Given the description of an element on the screen output the (x, y) to click on. 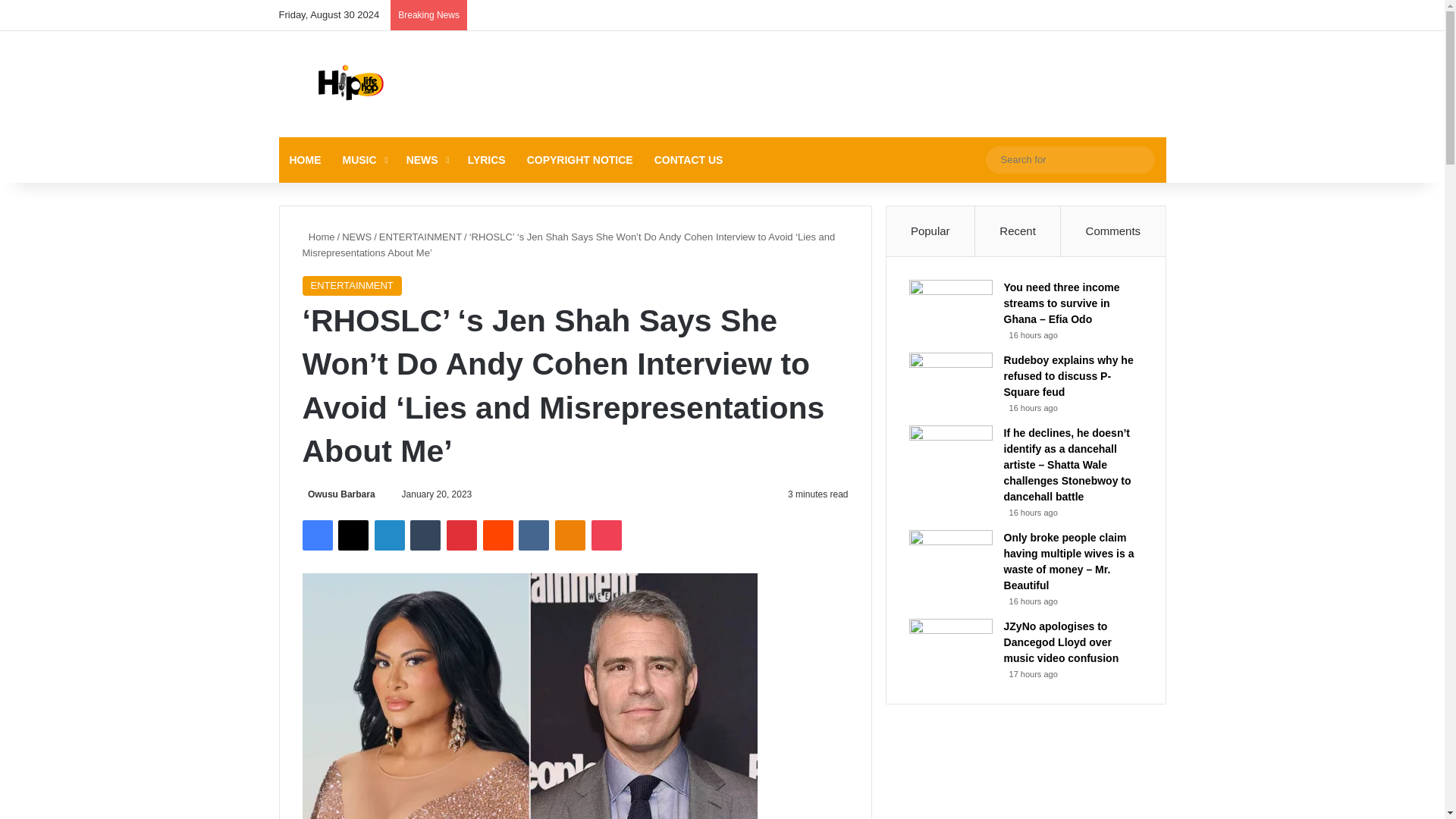
NEWS (426, 159)
NEWS (356, 236)
Home (317, 236)
Pocket (606, 535)
ENTERTAINMENT (419, 236)
Odnoklassniki (569, 535)
CONTACT US (688, 159)
VKontakte (533, 535)
Facebook (316, 535)
Pinterest (461, 535)
